Given the description of an element on the screen output the (x, y) to click on. 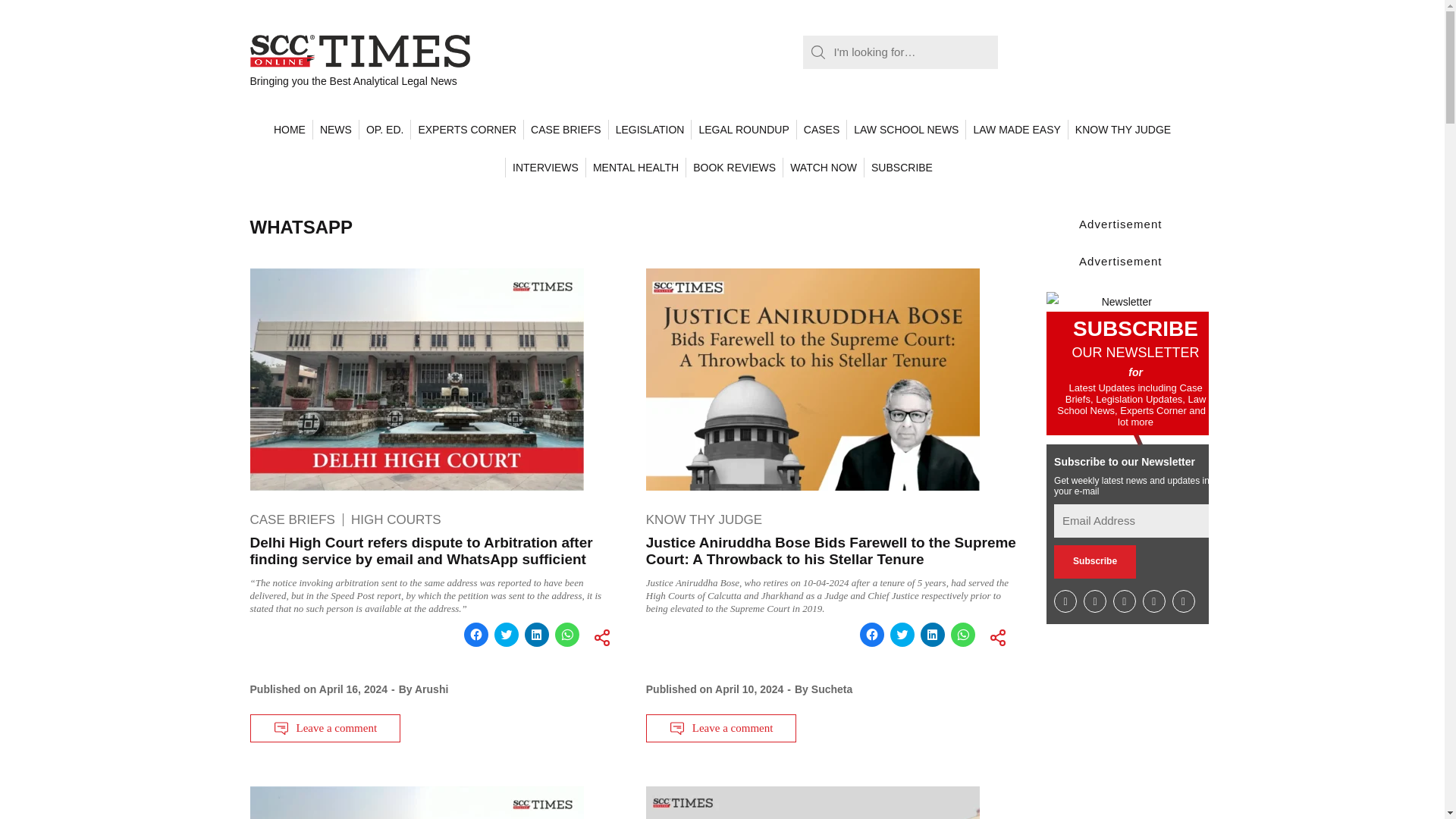
OP. ED. (384, 129)
Click to share on Facebook (475, 634)
Click to share on LinkedIn (536, 634)
NEWS (335, 129)
HOME (289, 129)
Click to share on Twitter (506, 634)
EXPERTS CORNER (466, 129)
CASE BRIEFS (565, 129)
Subscribe (1094, 561)
Click to share on WhatsApp (566, 634)
